Given the description of an element on the screen output the (x, y) to click on. 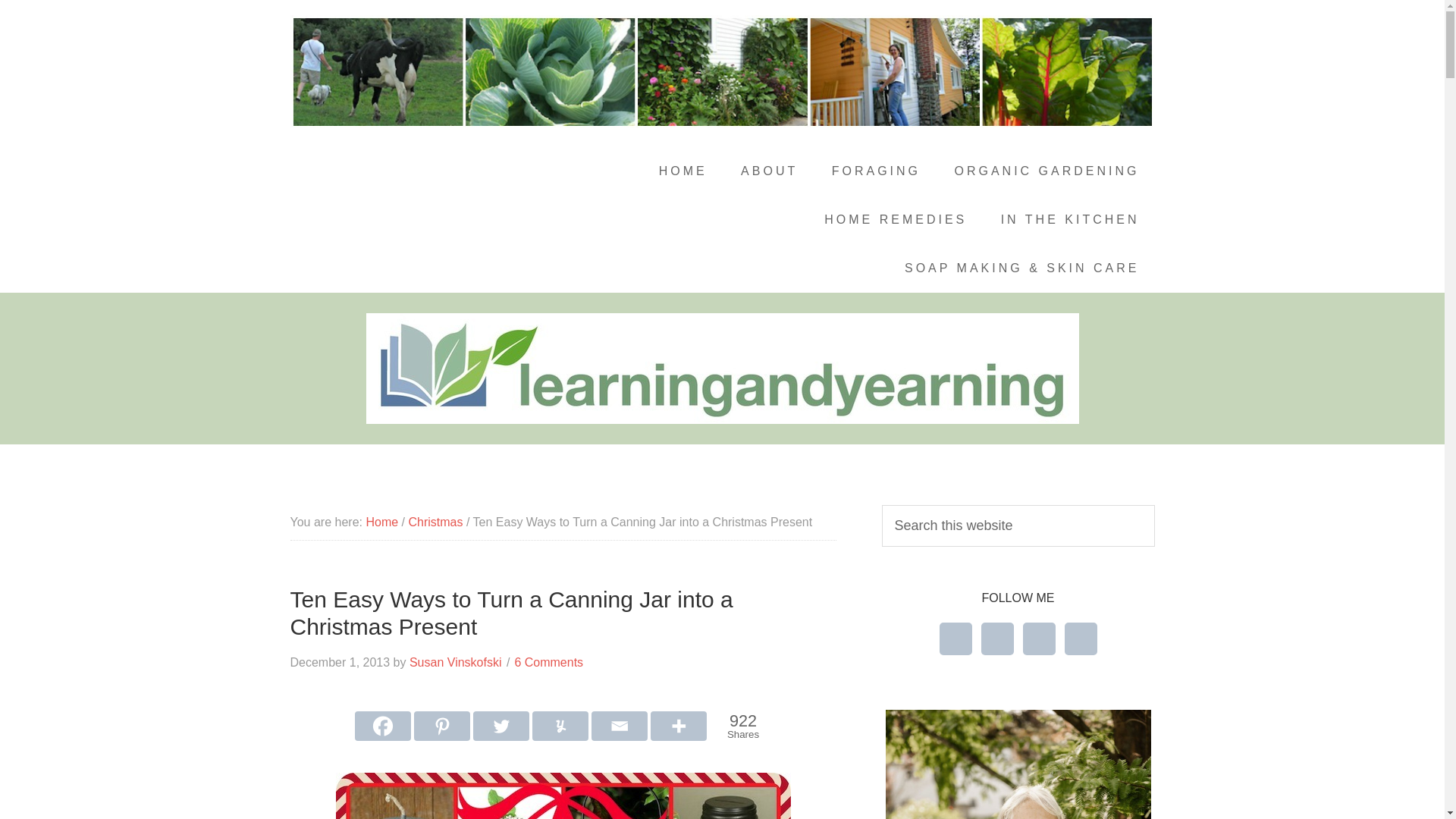
HOME REMEDIES (895, 219)
ABOUT (768, 171)
More (678, 726)
Susan Vinskofski (455, 662)
IN THE KITCHEN (1069, 219)
HOME (682, 171)
ORGANIC GARDENING (740, 726)
6 Comments (1046, 171)
Home (548, 662)
Facebook (381, 521)
Search (382, 726)
Twitter (876, 171)
